Given the description of an element on the screen output the (x, y) to click on. 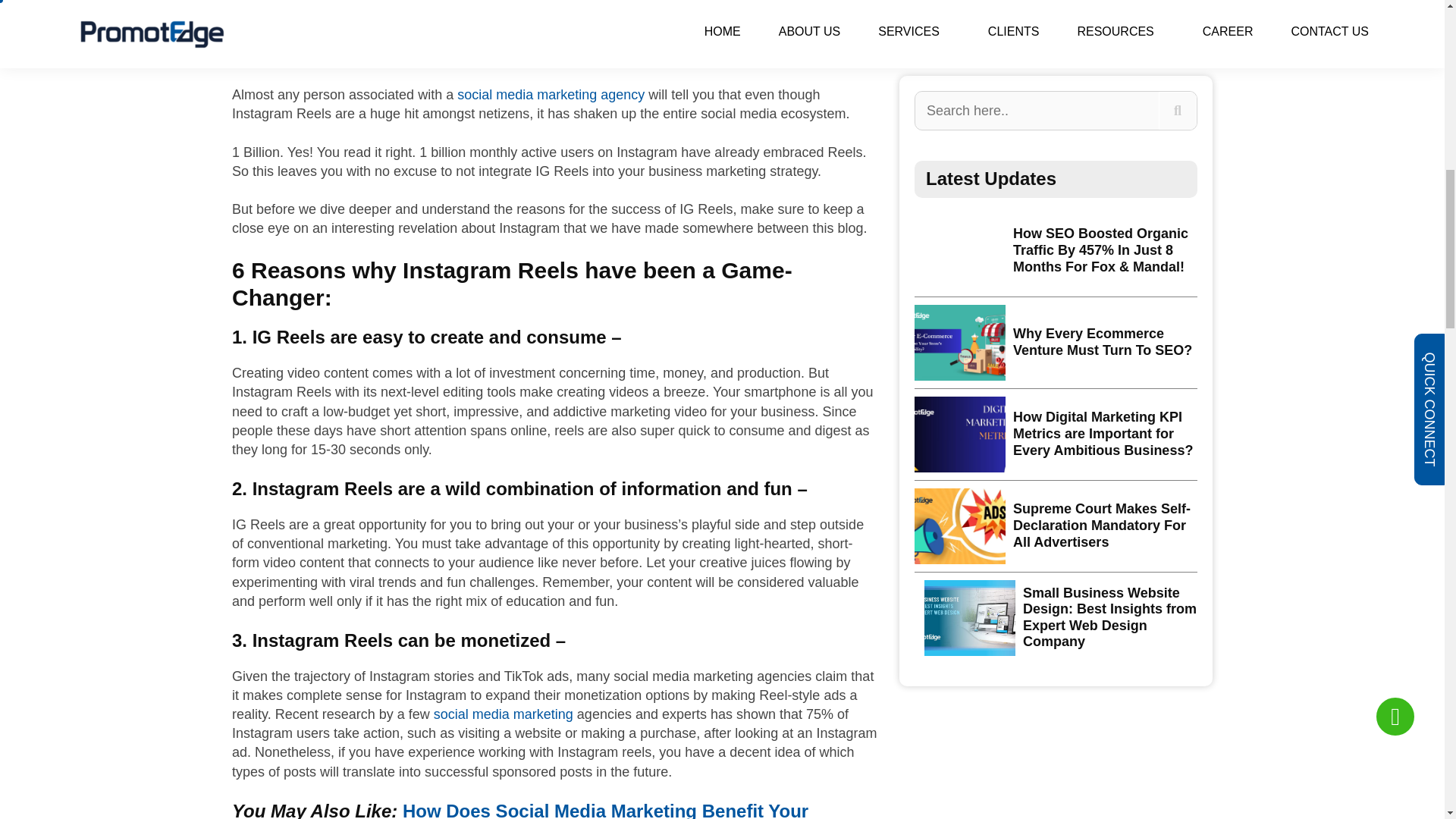
social media marketing agency (551, 94)
social media marketing (503, 713)
How Does Social Media Marketing Benefit Your Business? (519, 809)
